Given the description of an element on the screen output the (x, y) to click on. 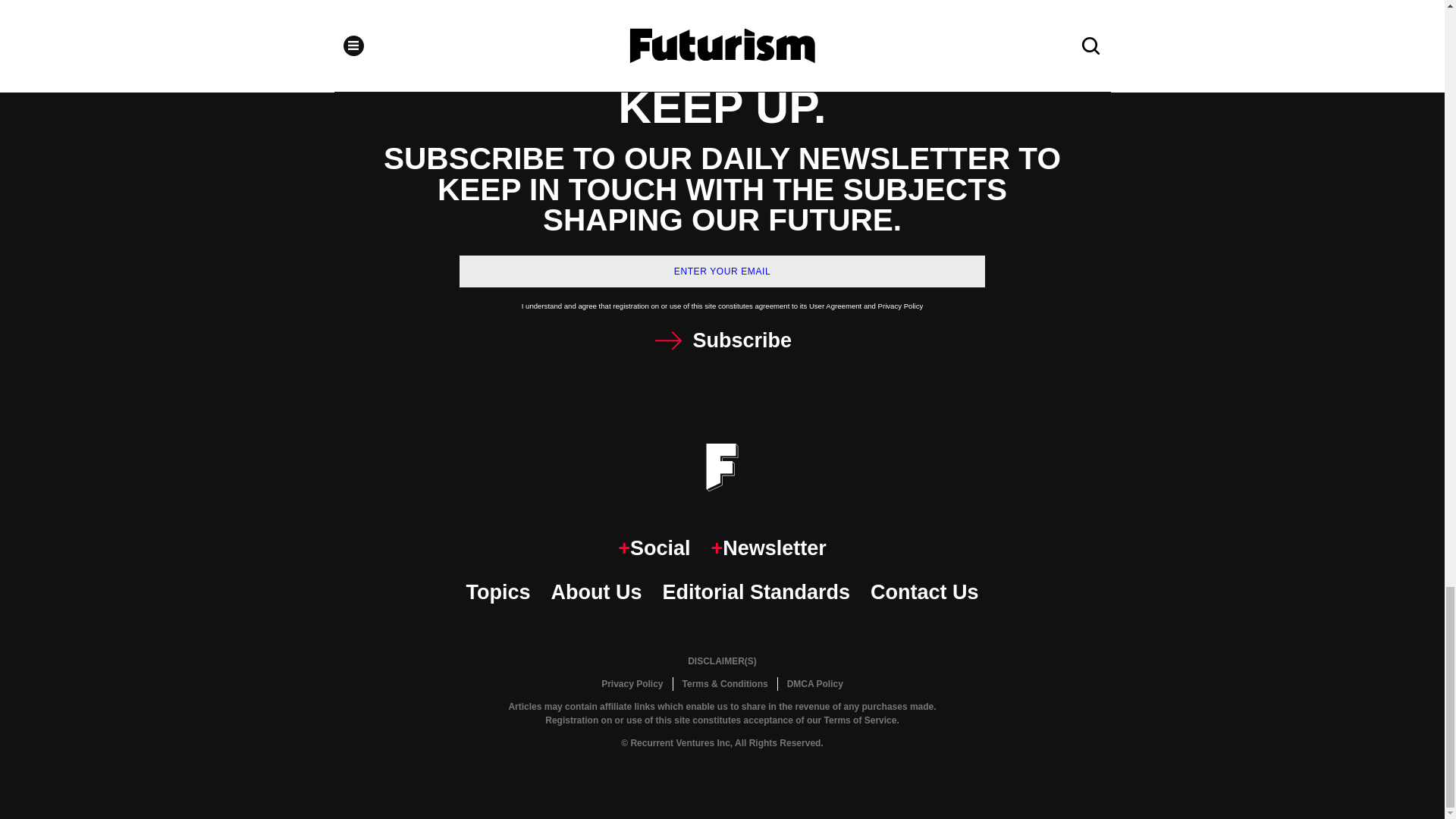
Privacy Policy (631, 684)
Editorial Standards (756, 592)
Subscribe (722, 340)
Topics (497, 592)
Contact Us (924, 592)
About Us (596, 592)
DMCA Policy (814, 684)
